Given the description of an element on the screen output the (x, y) to click on. 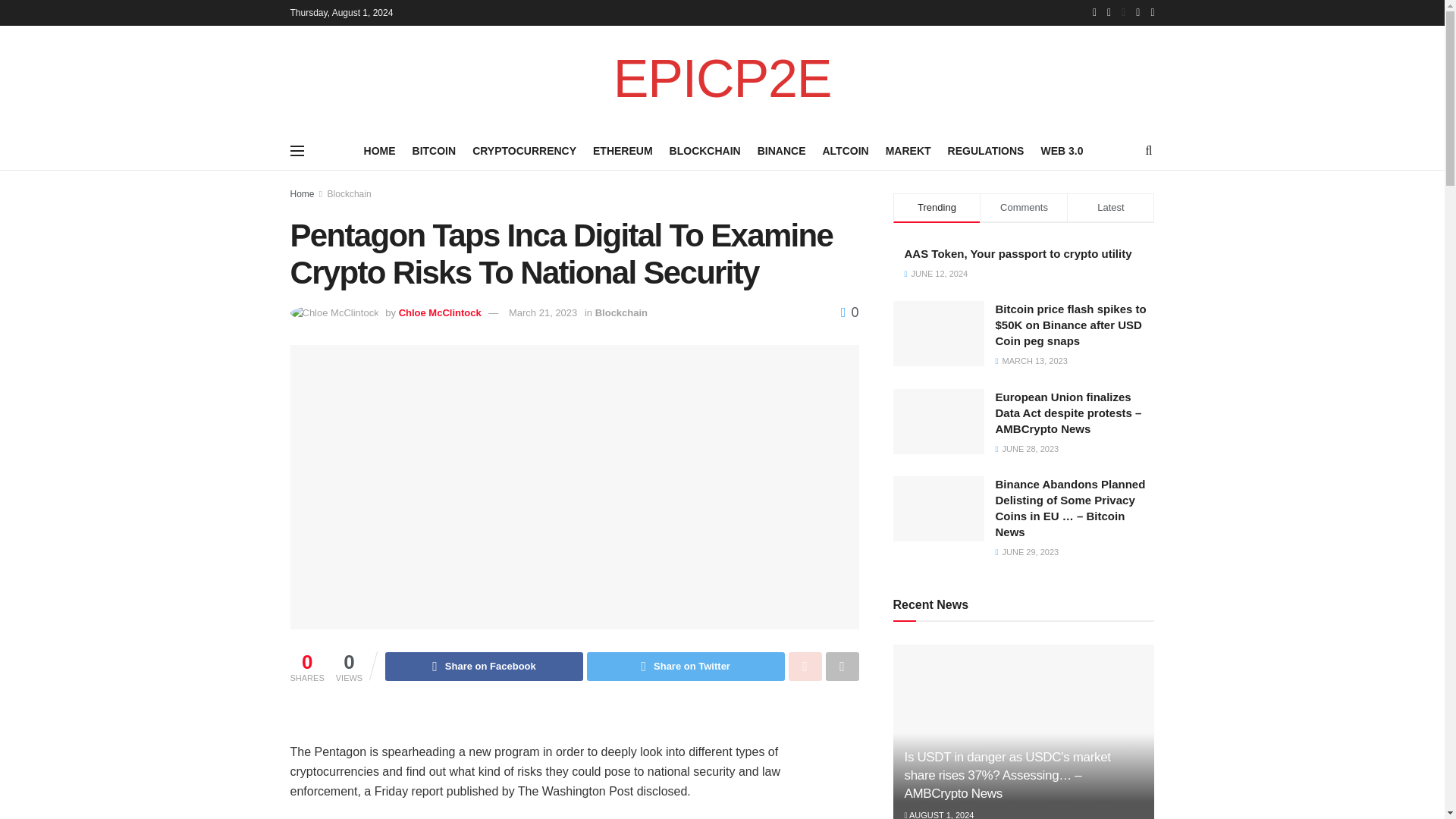
EPICP2E (721, 78)
Share on Facebook (484, 665)
ALTCOIN (844, 150)
CRYPTOCURRENCY (523, 150)
Home (301, 194)
MAREKT (908, 150)
HOME (380, 150)
BLOCKCHAIN (705, 150)
0 (850, 312)
WEB 3.0 (1062, 150)
Blockchain (349, 194)
Blockchain (621, 312)
Share on Twitter (685, 665)
REGULATIONS (986, 150)
March 21, 2023 (542, 312)
